Given the description of an element on the screen output the (x, y) to click on. 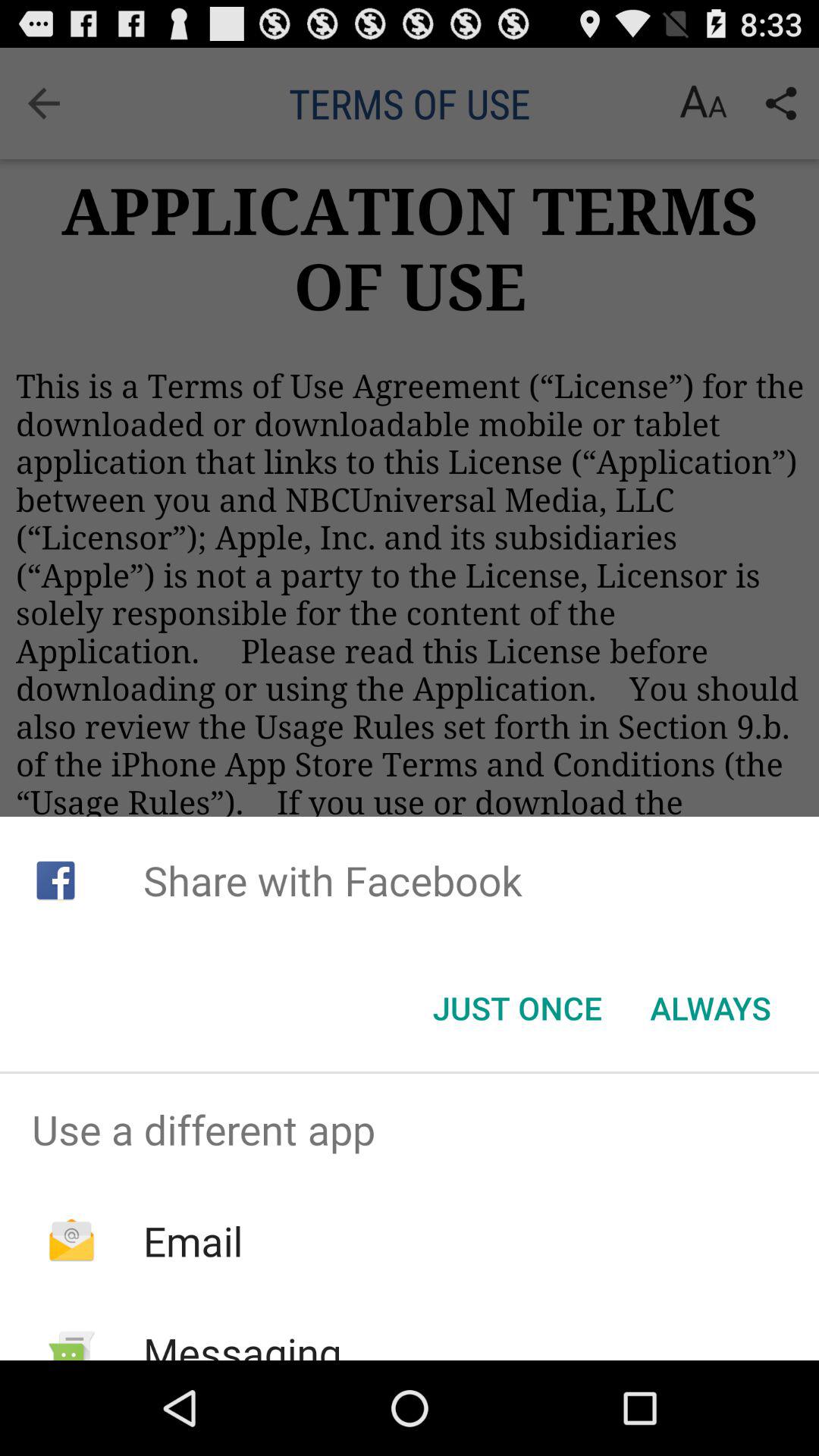
launch button to the left of always button (517, 1007)
